Given the description of an element on the screen output the (x, y) to click on. 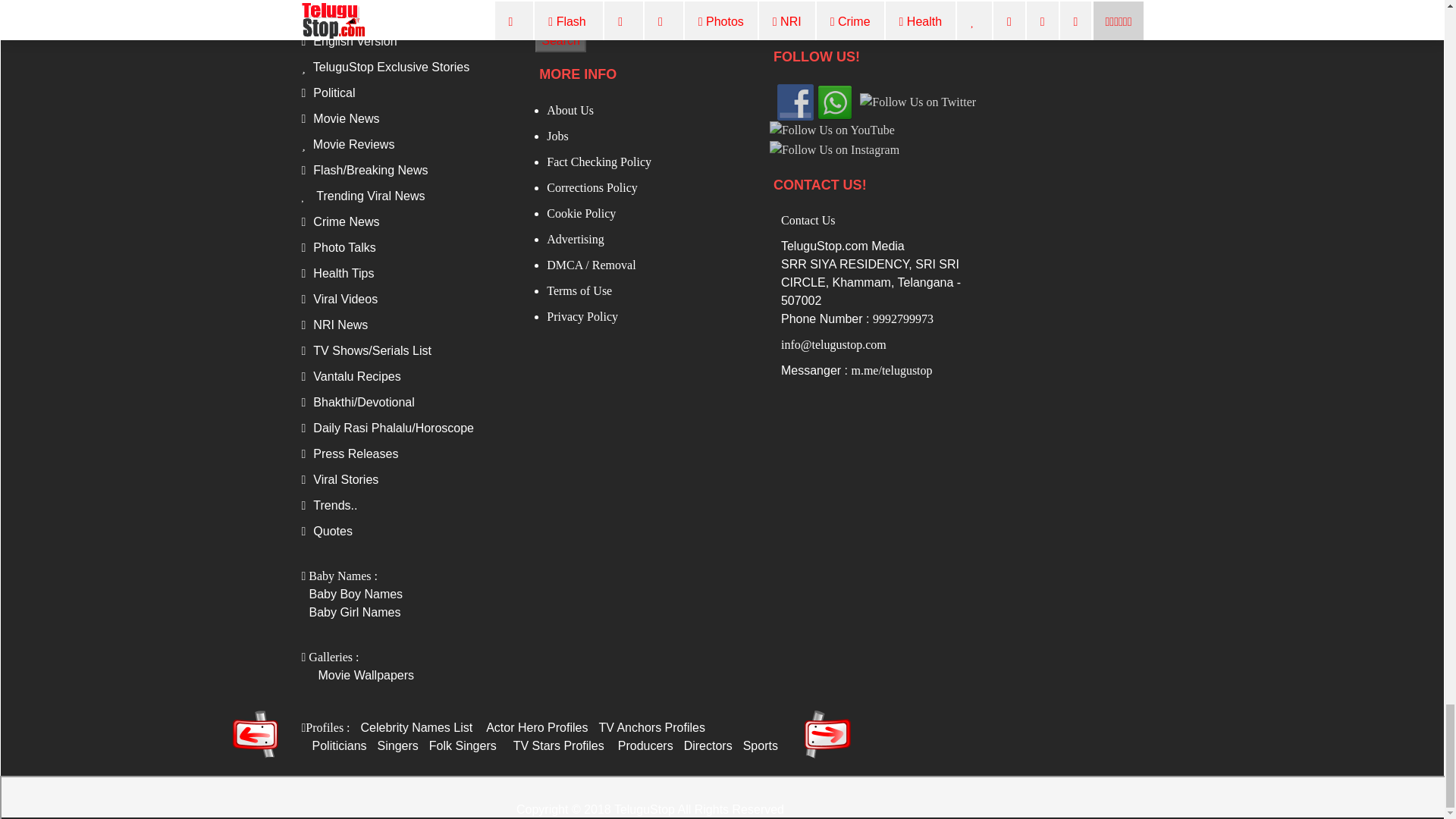
Search (560, 40)
